Given the description of an element on the screen output the (x, y) to click on. 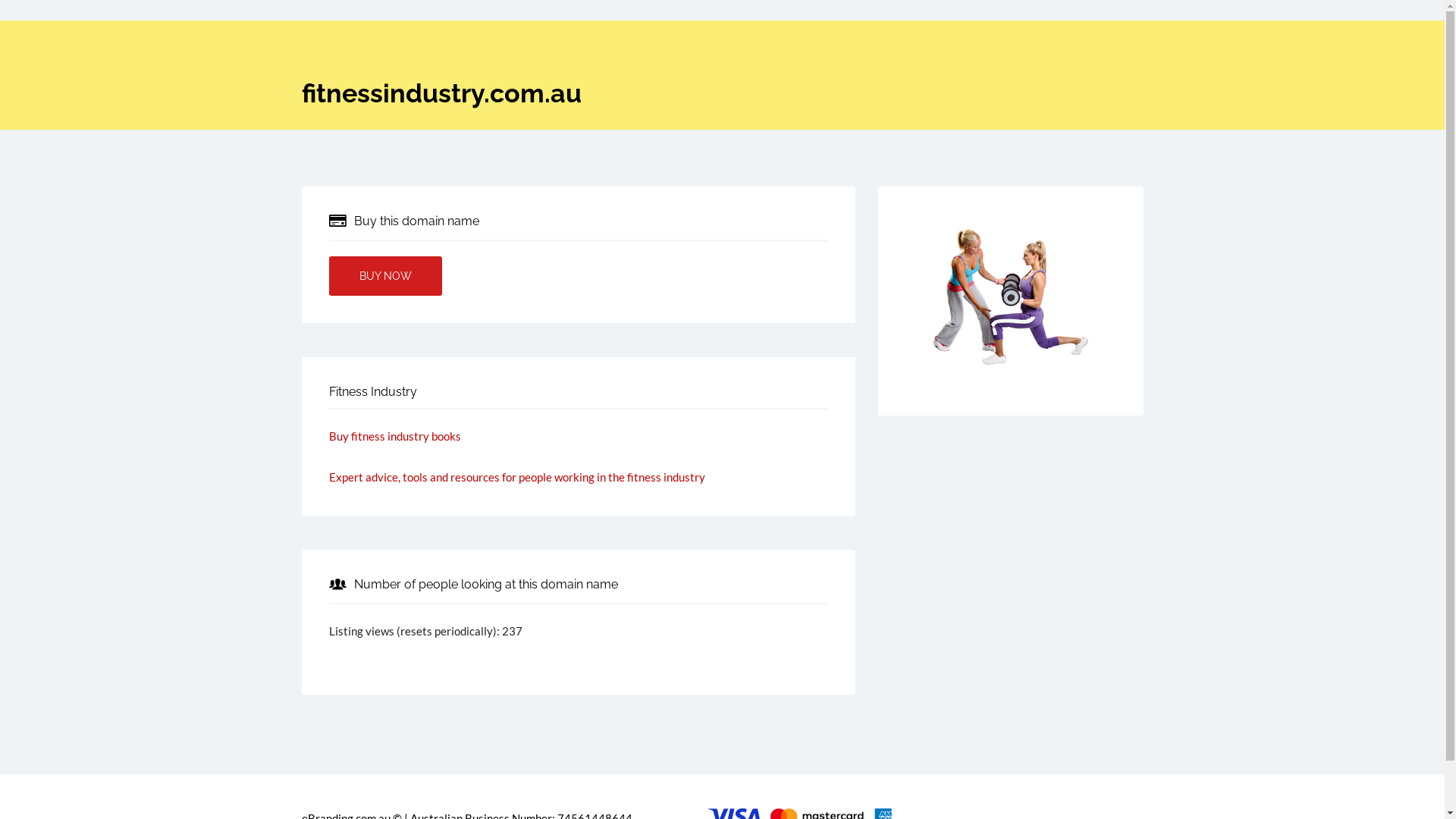
Buy fitness industry books Element type: text (395, 435)
BUY NOW Element type: text (385, 275)
